Given the description of an element on the screen output the (x, y) to click on. 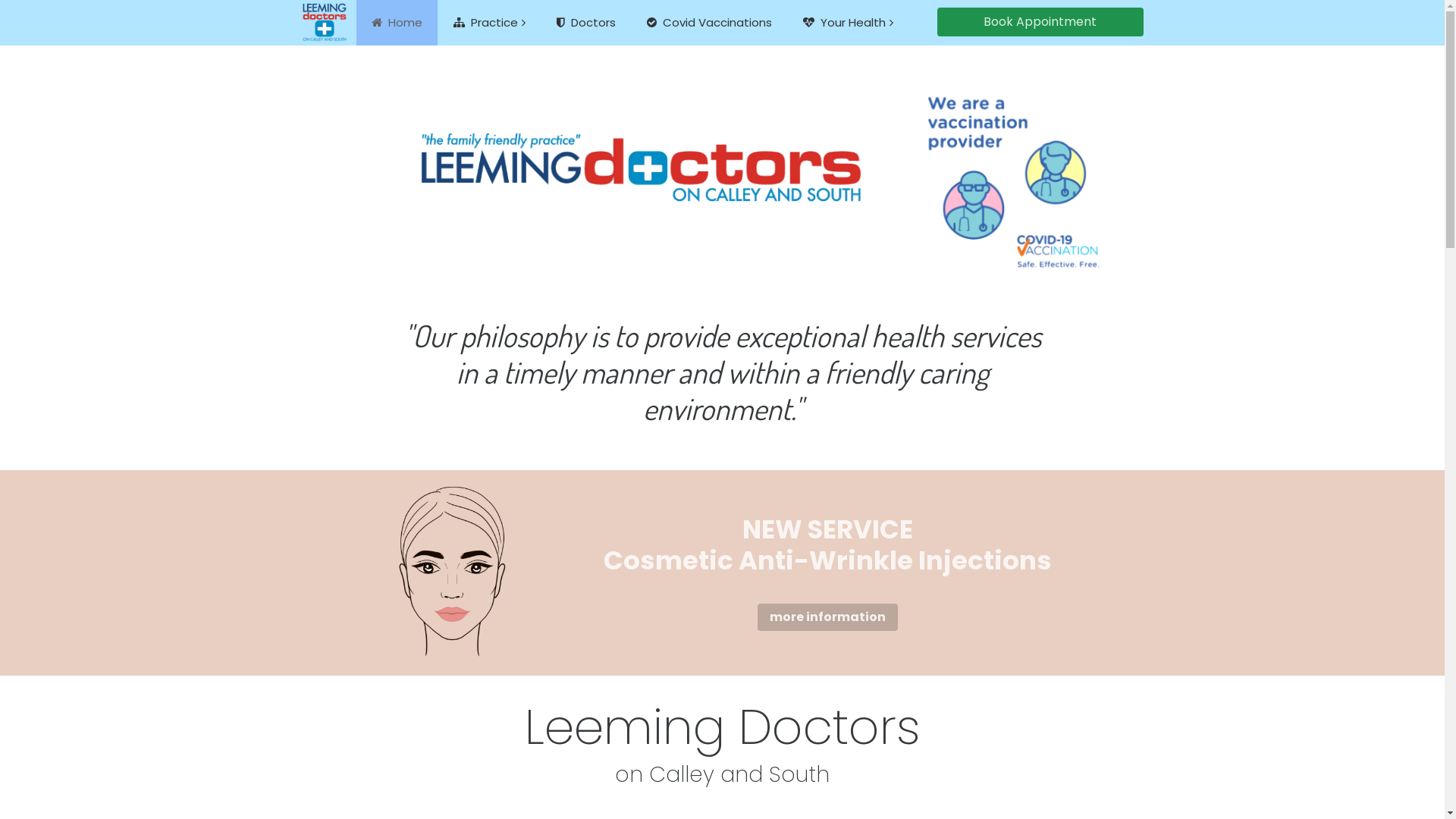
Your Health Element type: text (847, 22)
more information Element type: text (827, 616)
Practice Element type: text (489, 22)
Covid Vaccinations Element type: text (708, 22)
Book Appointment Element type: text (1040, 21)
Doctors Element type: text (585, 22)
Home Element type: text (396, 22)
